Given the description of an element on the screen output the (x, y) to click on. 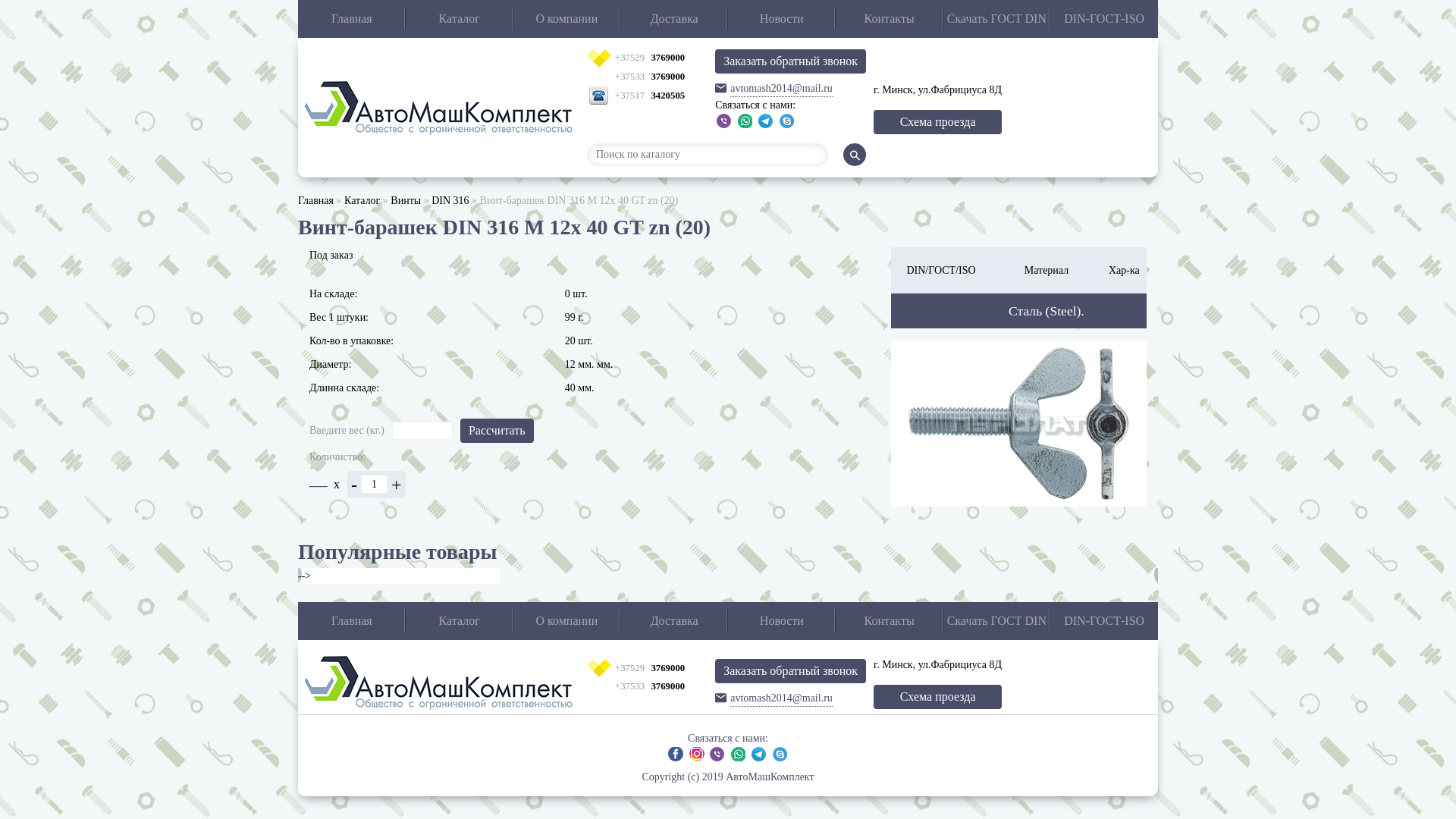
avtomash2014@mail.ru Element type: text (790, 698)
+37533 3769000 Element type: text (647, 686)
+37517 3420505 Element type: text (647, 95)
+37529 3769000 Element type: text (647, 57)
DIN 316 Element type: text (449, 200)
avtomash2014@mail.ru Element type: text (790, 88)
+37529 3769000 Element type: text (647, 668)
+37533 3769000 Element type: text (647, 76)
